Given the description of an element on the screen output the (x, y) to click on. 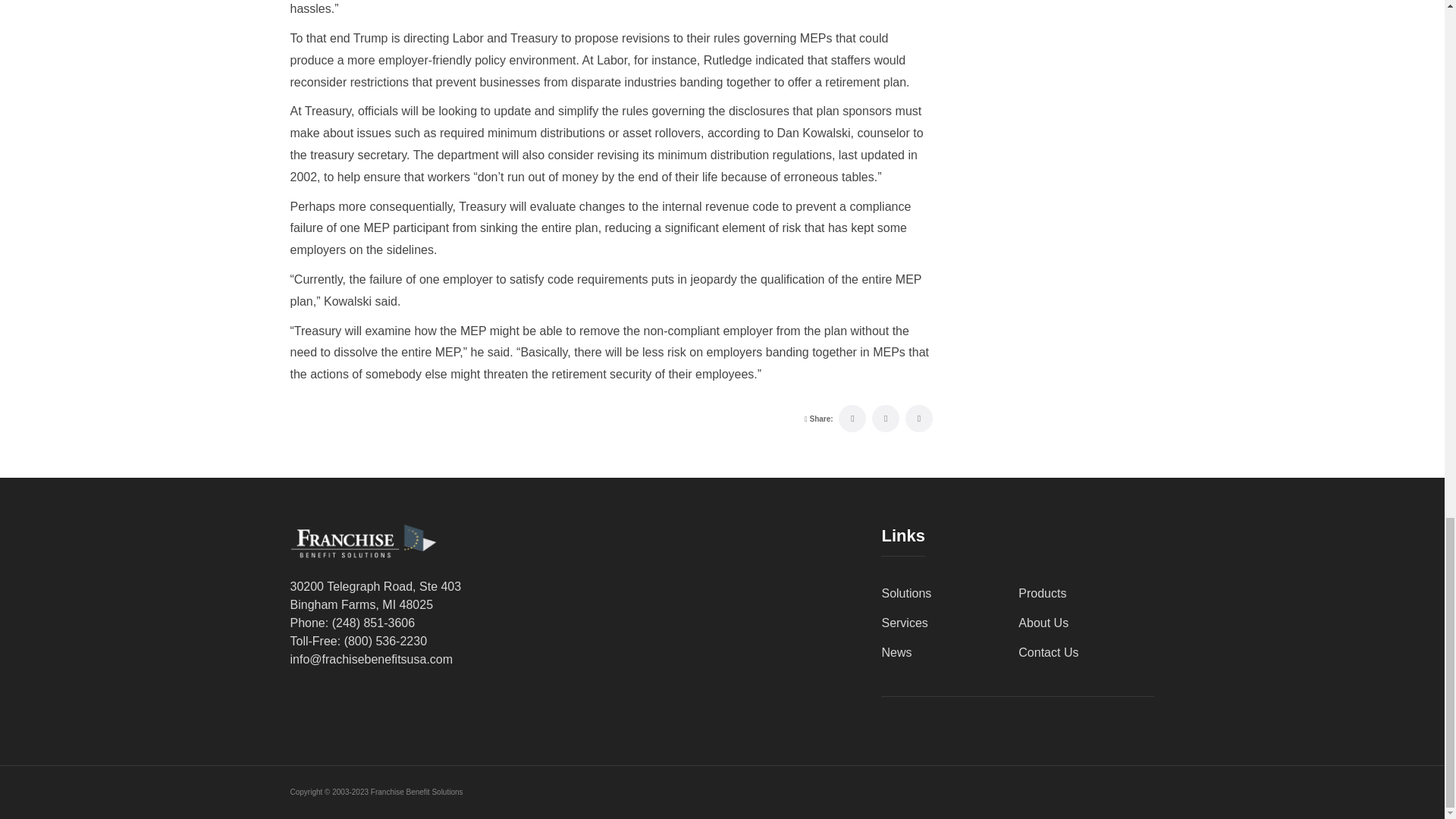
Products (1041, 593)
Services (903, 622)
About Us (1042, 622)
Contact Us (1047, 652)
Solutions (905, 593)
News (895, 652)
